Given the description of an element on the screen output the (x, y) to click on. 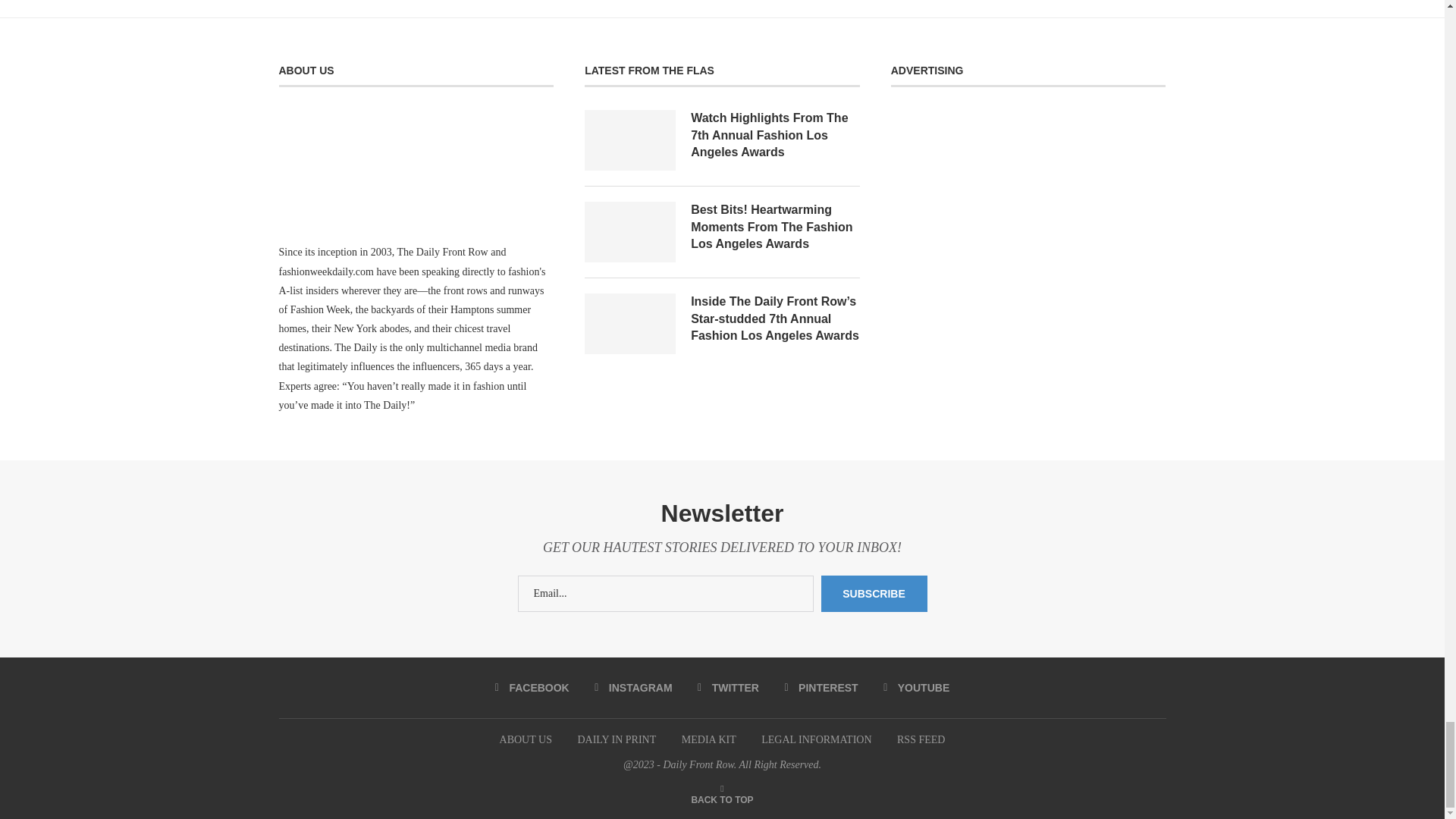
Subscribe (873, 593)
